Given the description of an element on the screen output the (x, y) to click on. 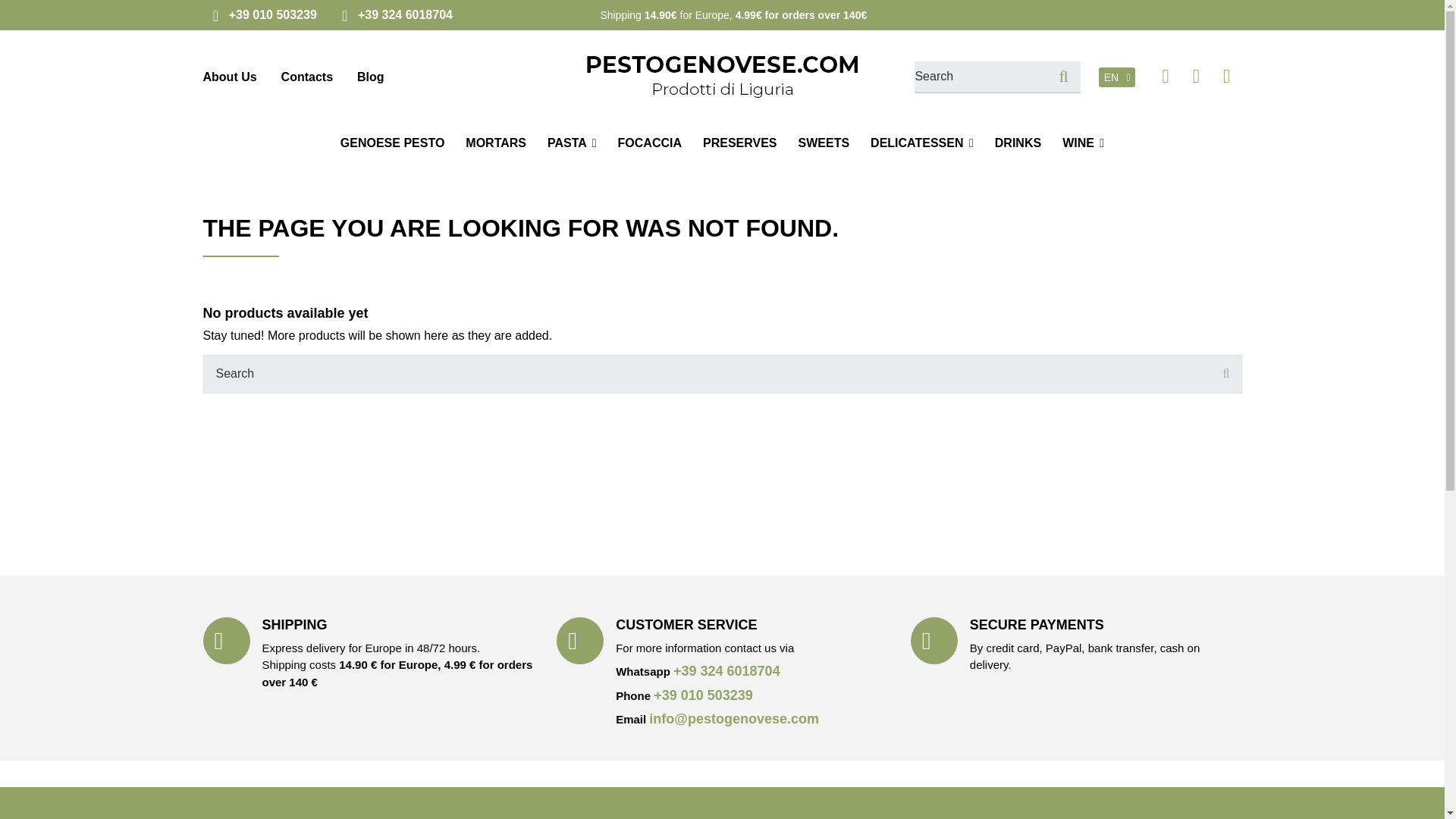
Log in to your customer account (1195, 76)
Blog (370, 76)
FOCACCIA (650, 142)
Contacts (307, 76)
Contacts (307, 76)
MORTARS (495, 142)
EN (1117, 76)
DELICATESSEN (922, 142)
DRINKS (1017, 142)
PASTA (572, 142)
